Given the description of an element on the screen output the (x, y) to click on. 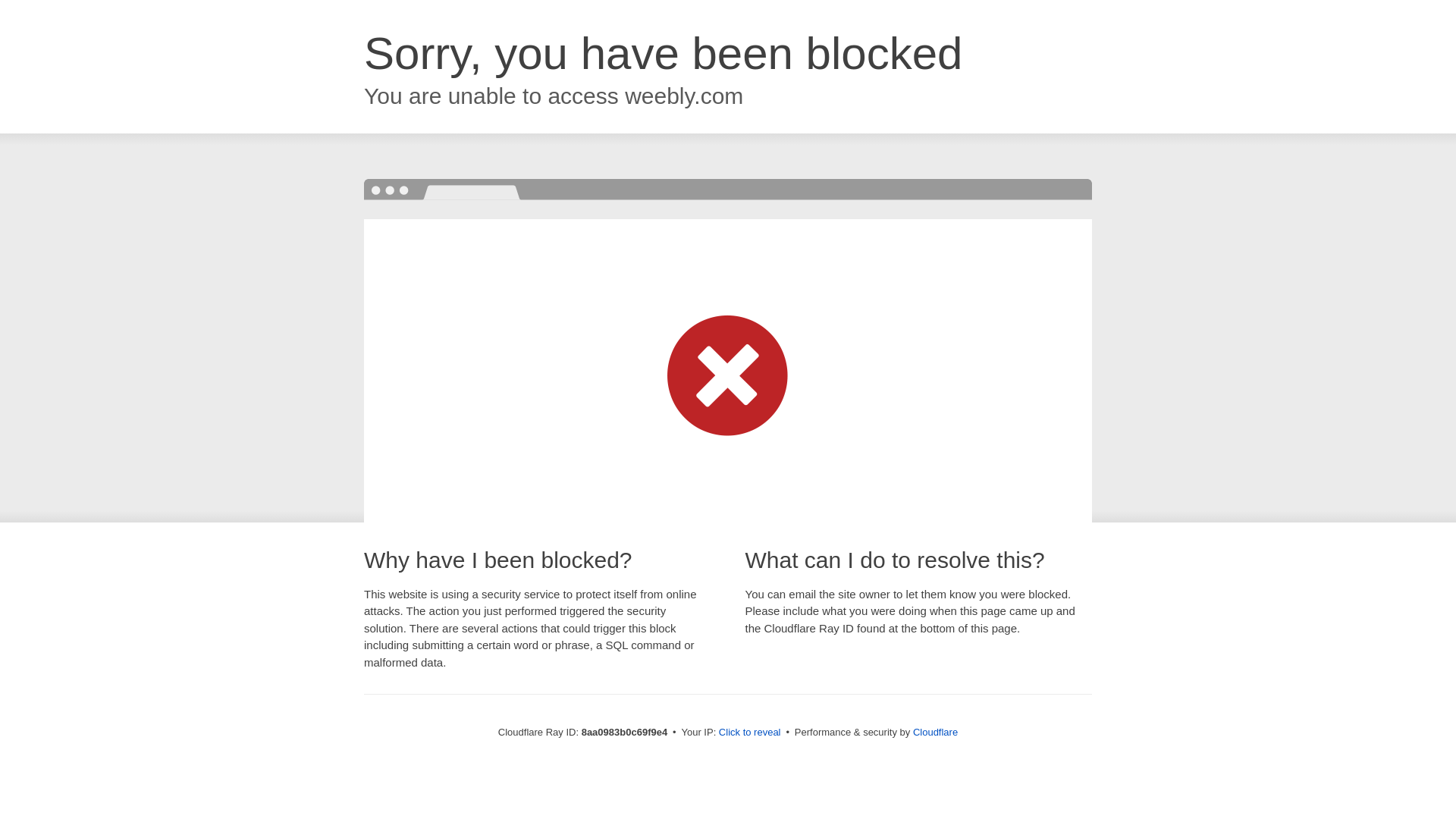
Click to reveal (749, 732)
Cloudflare (935, 731)
